Given the description of an element on the screen output the (x, y) to click on. 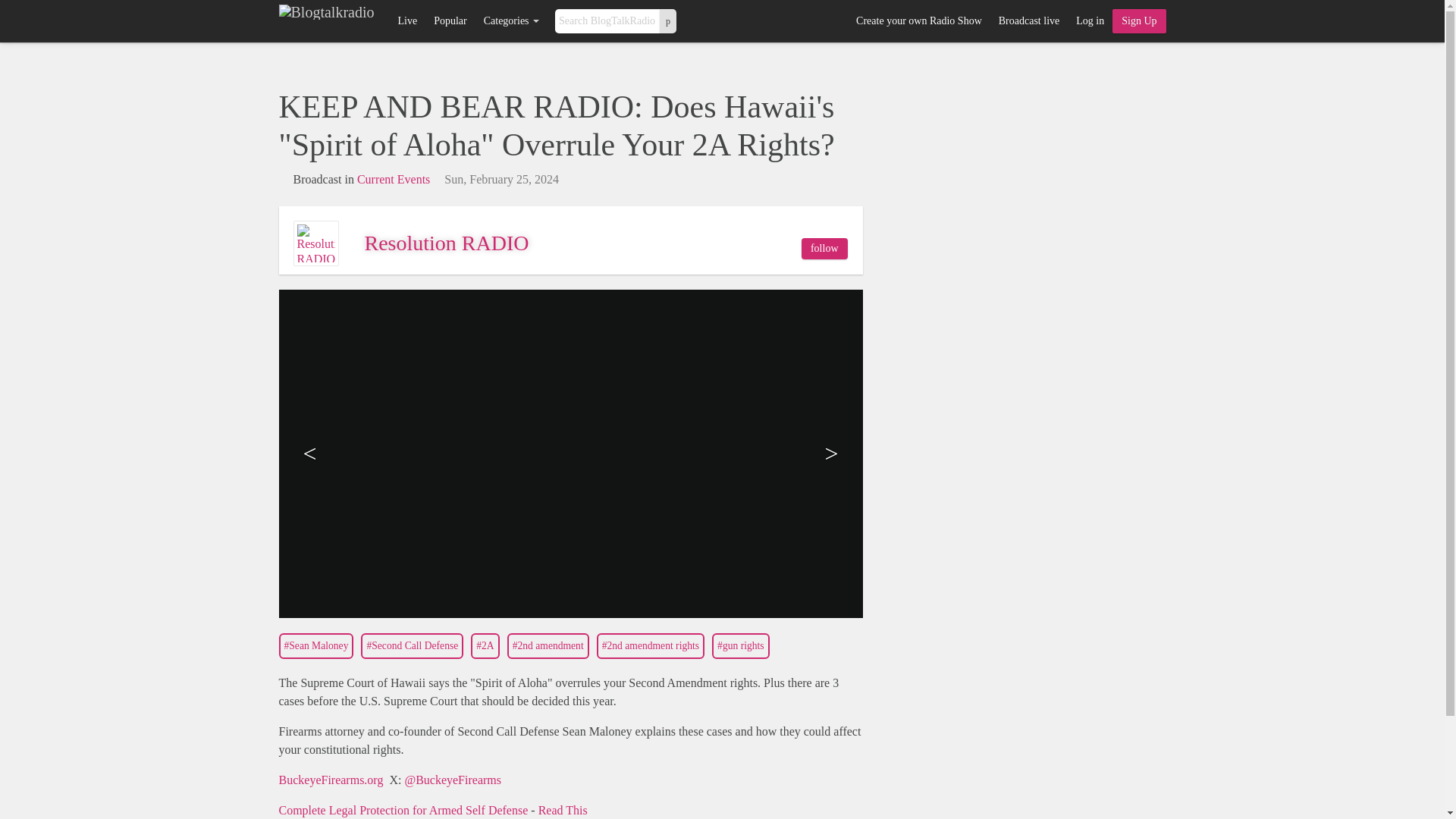
Broadcast live (1028, 20)
Log in (1089, 20)
Popular (450, 20)
Create your own Radio Show (918, 20)
Categories (511, 20)
Live (406, 20)
Create My Talk Show (1139, 21)
Follow Resolution RADIO (824, 248)
Sign Up (1139, 21)
